Given the description of an element on the screen output the (x, y) to click on. 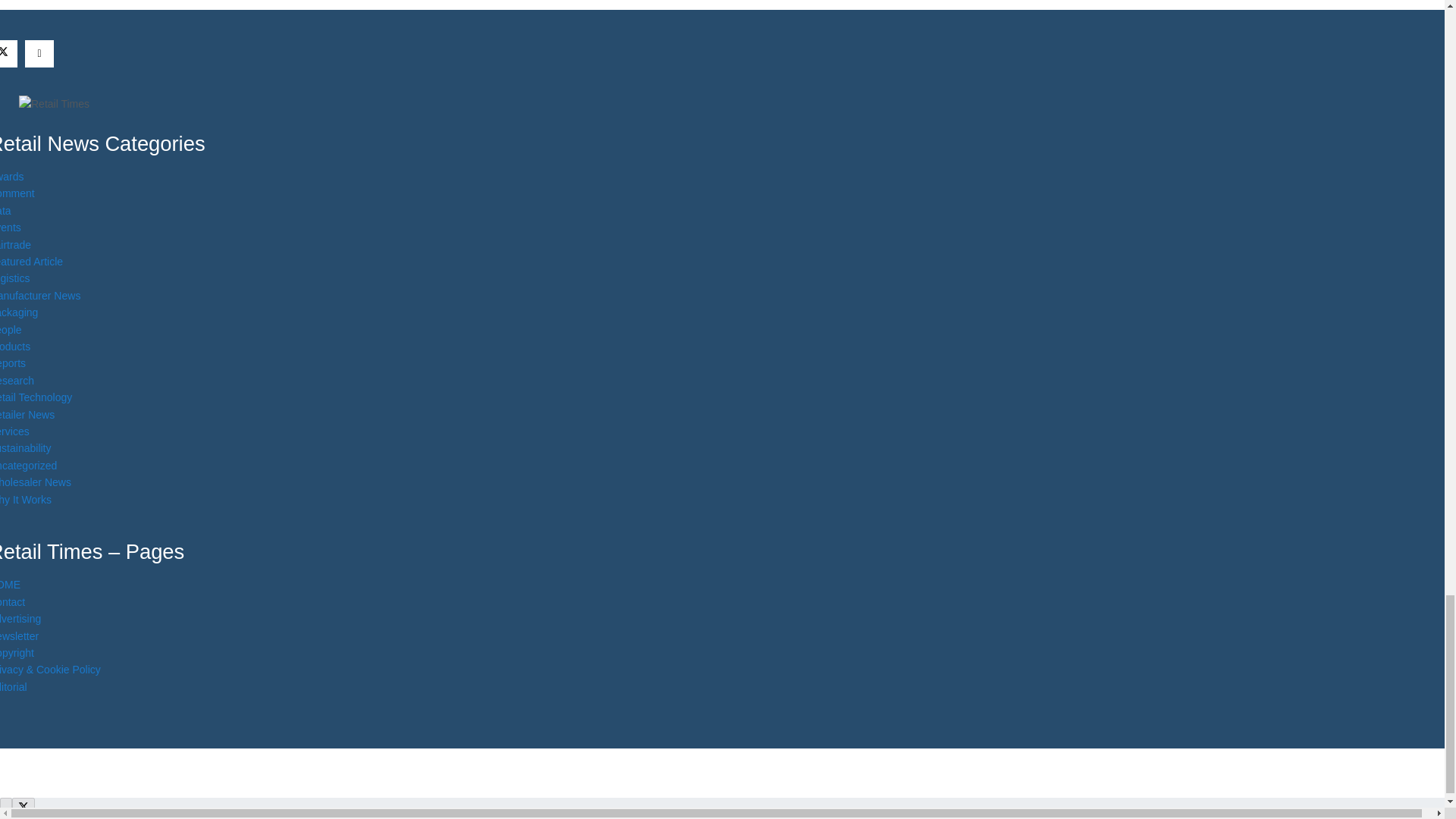
Retail Times (53, 103)
